Given the description of an element on the screen output the (x, y) to click on. 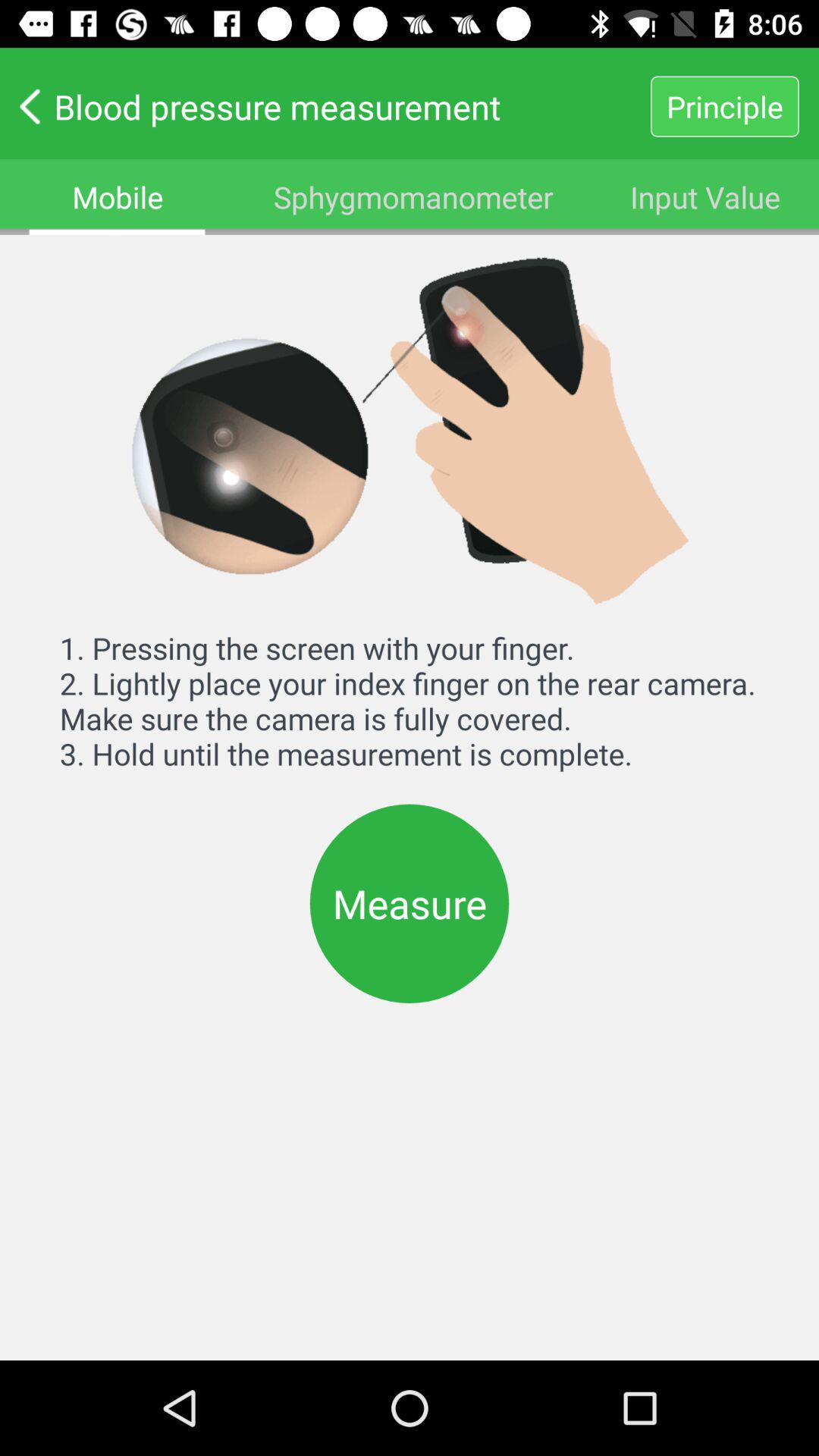
choose item next to the blood pressure measurement icon (724, 106)
